Given the description of an element on the screen output the (x, y) to click on. 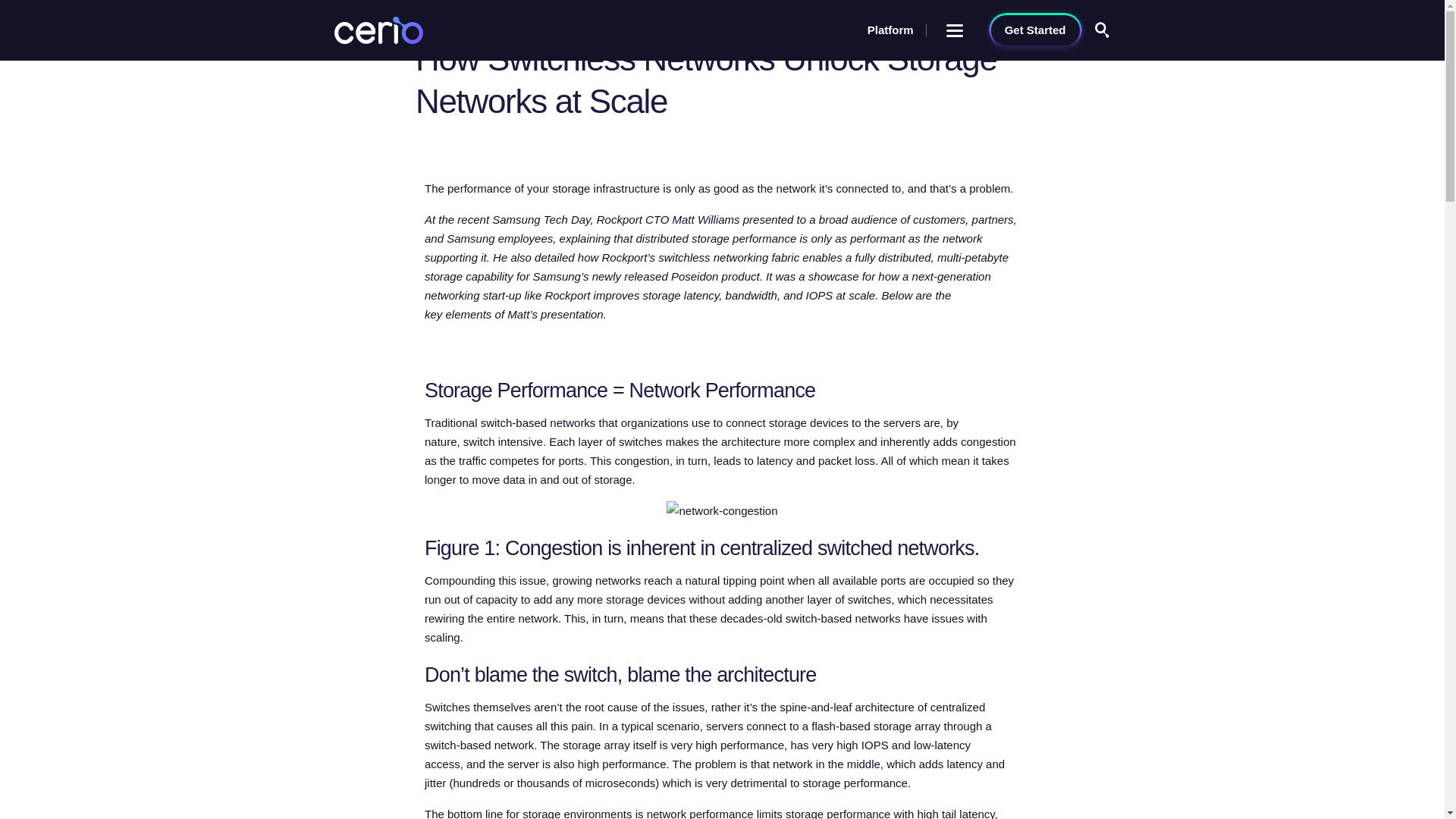
Get Started (1034, 30)
Platform (891, 30)
